Given the description of an element on the screen output the (x, y) to click on. 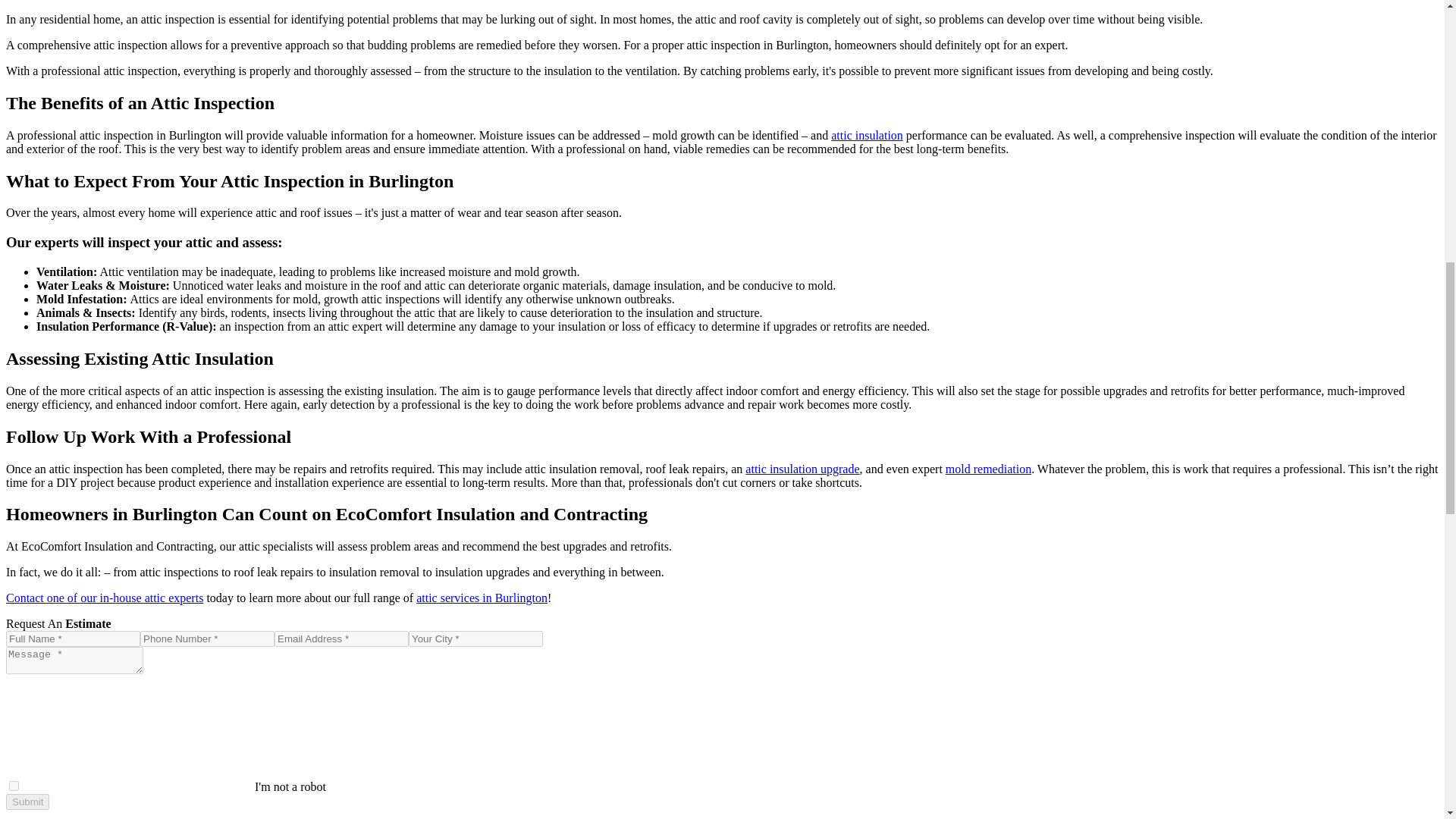
Contact one of our in-house attic experts (104, 597)
attic insulation upgrade (802, 468)
attic services in Burlington (481, 597)
1 (13, 786)
mold remediation (987, 468)
Submit (27, 801)
attic insulation (866, 134)
